Given the description of an element on the screen output the (x, y) to click on. 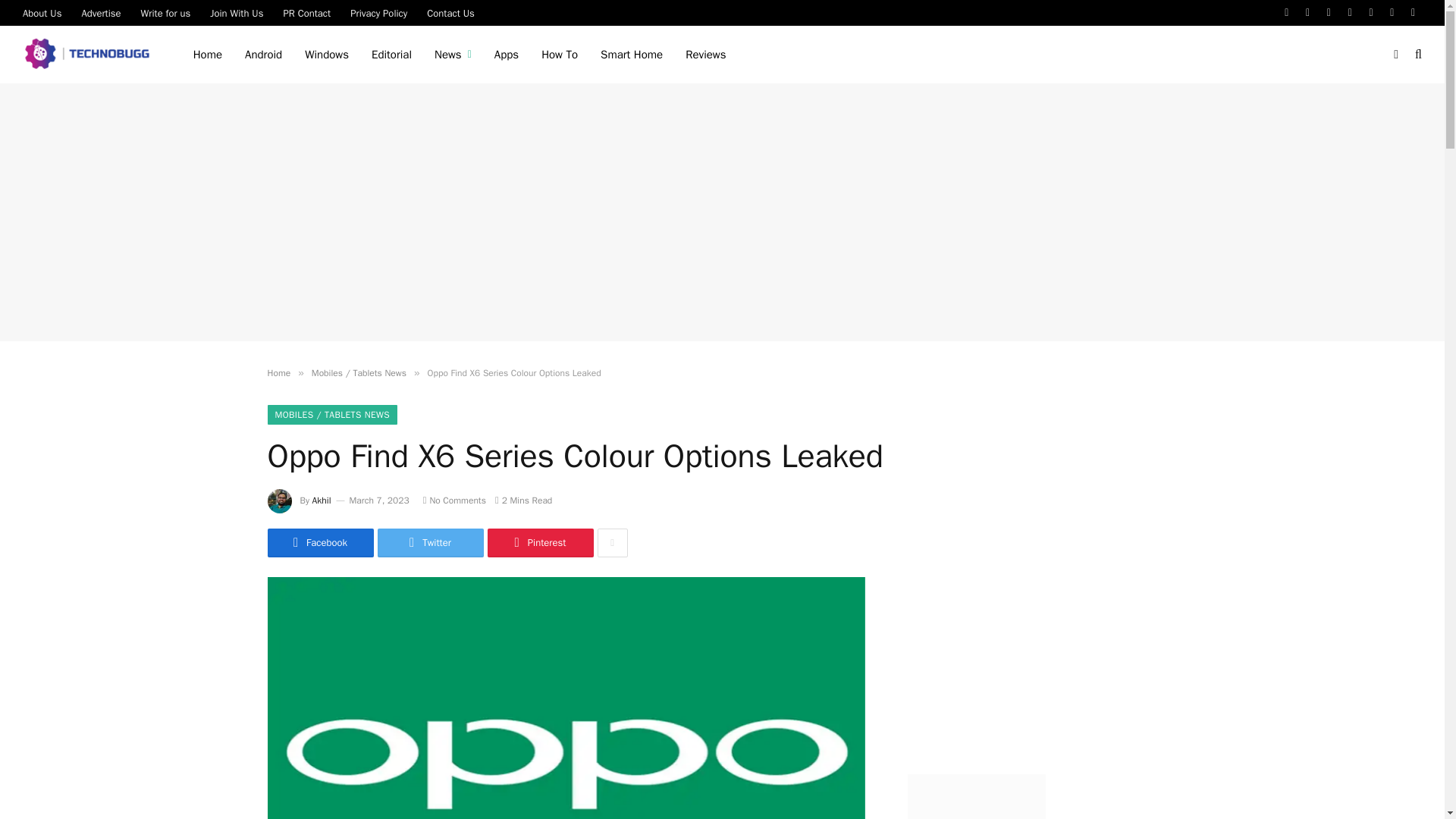
Show More Social Sharing (611, 542)
Join With Us (236, 12)
How To (559, 54)
Editorial (391, 54)
Reviews (705, 54)
Home (207, 54)
About Us (42, 12)
Switch to Dark Design - easier on eyes. (1396, 54)
PR Contact (306, 12)
Privacy Policy (378, 12)
Windows (326, 54)
Smart Home (631, 54)
Advertise (101, 12)
Android (263, 54)
Share on Facebook (319, 542)
